Given the description of an element on the screen output the (x, y) to click on. 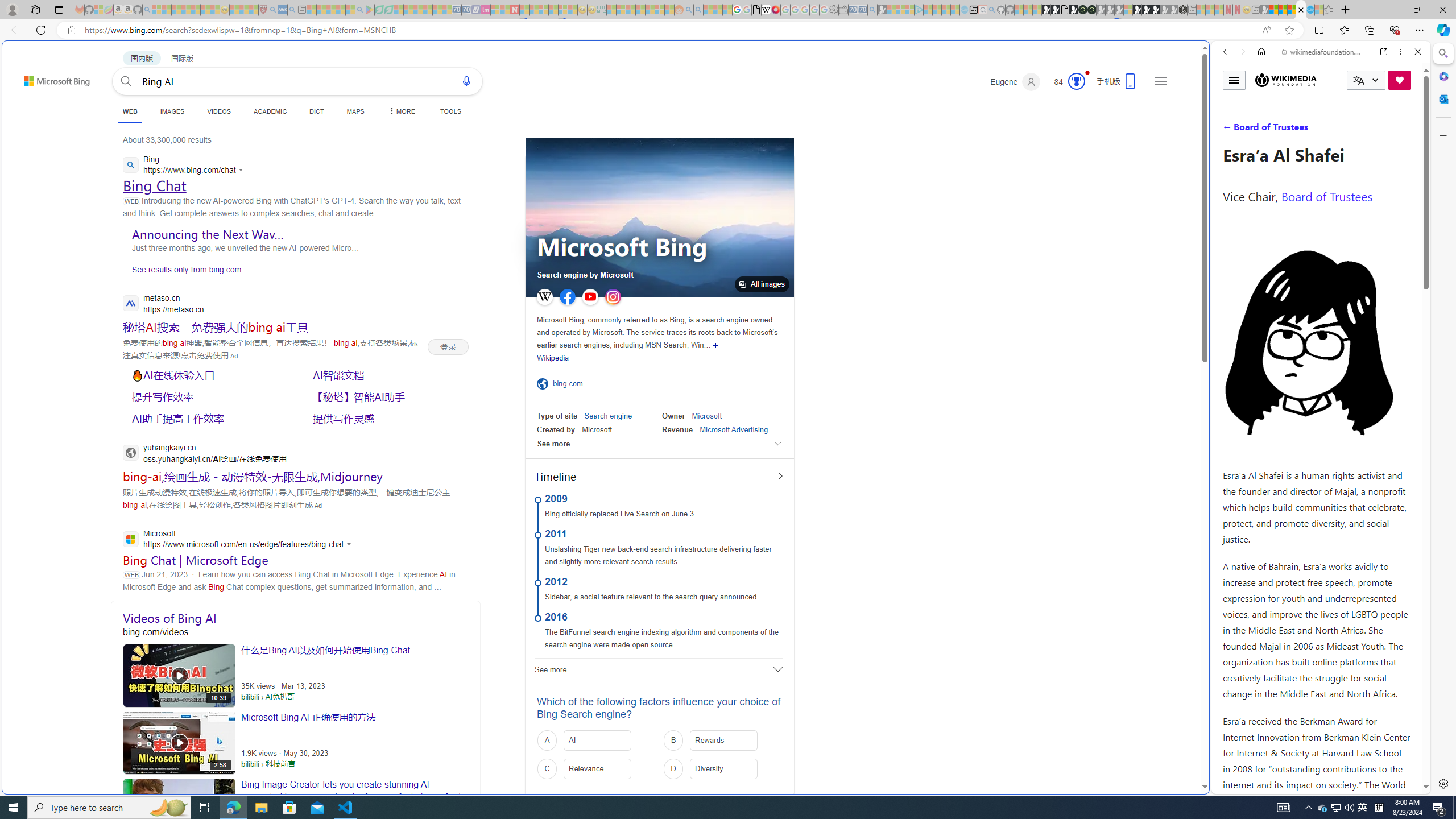
DITOGAMES AG Imprint - Sleeping (601, 9)
